Given the description of an element on the screen output the (x, y) to click on. 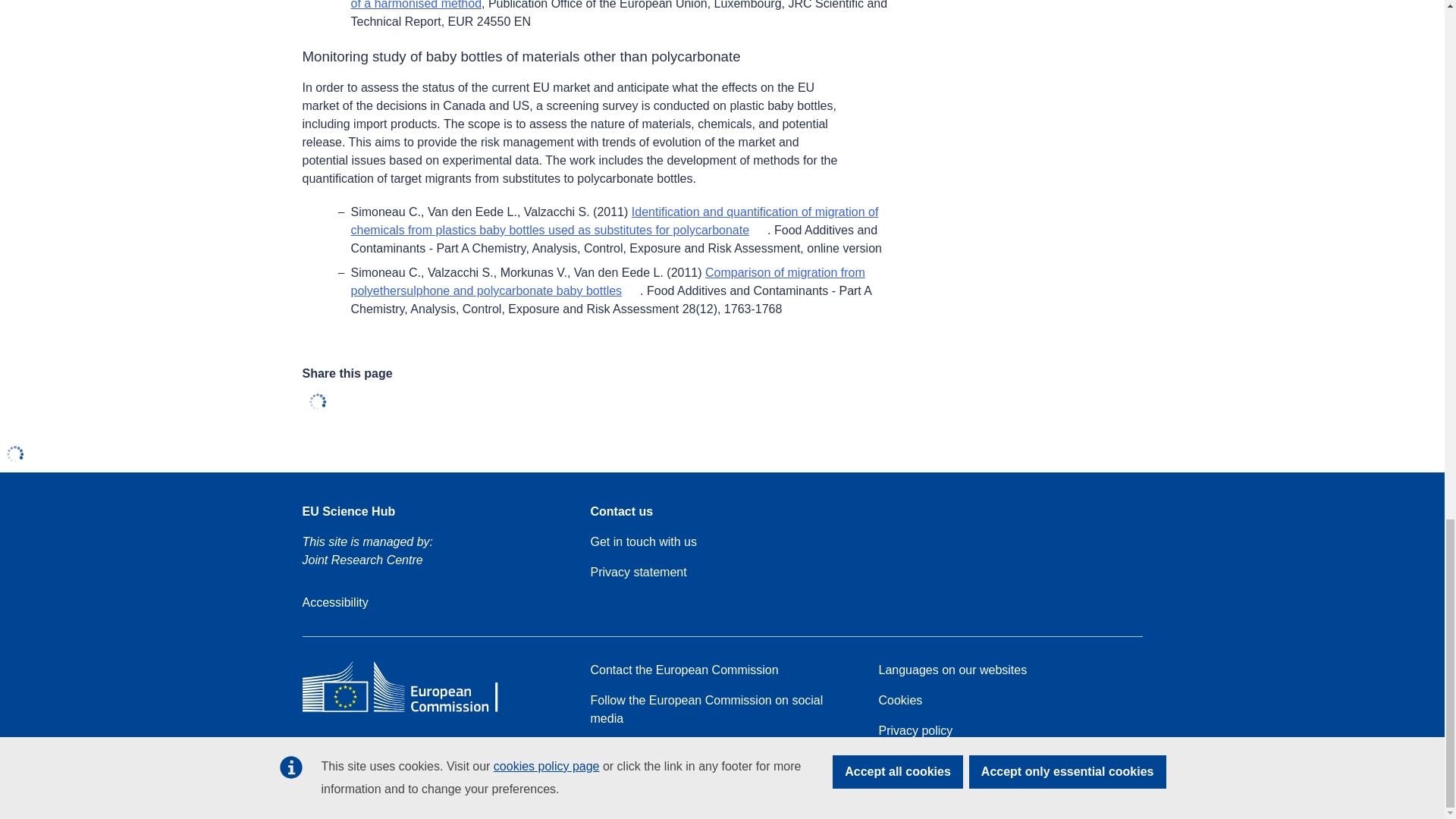
Follow the European Commission on social media (721, 709)
Languages on our websites (951, 669)
European Commission (411, 711)
Cookies (899, 700)
Resources for partners (651, 749)
EU Science Hub (347, 511)
Privacy statement (637, 572)
Privacy policy (914, 730)
Accessibility (334, 602)
Report an IT vulnerability (657, 779)
Legal notice (910, 761)
Get in touch with us (643, 542)
Contact the European Commission (683, 669)
